Given the description of an element on the screen output the (x, y) to click on. 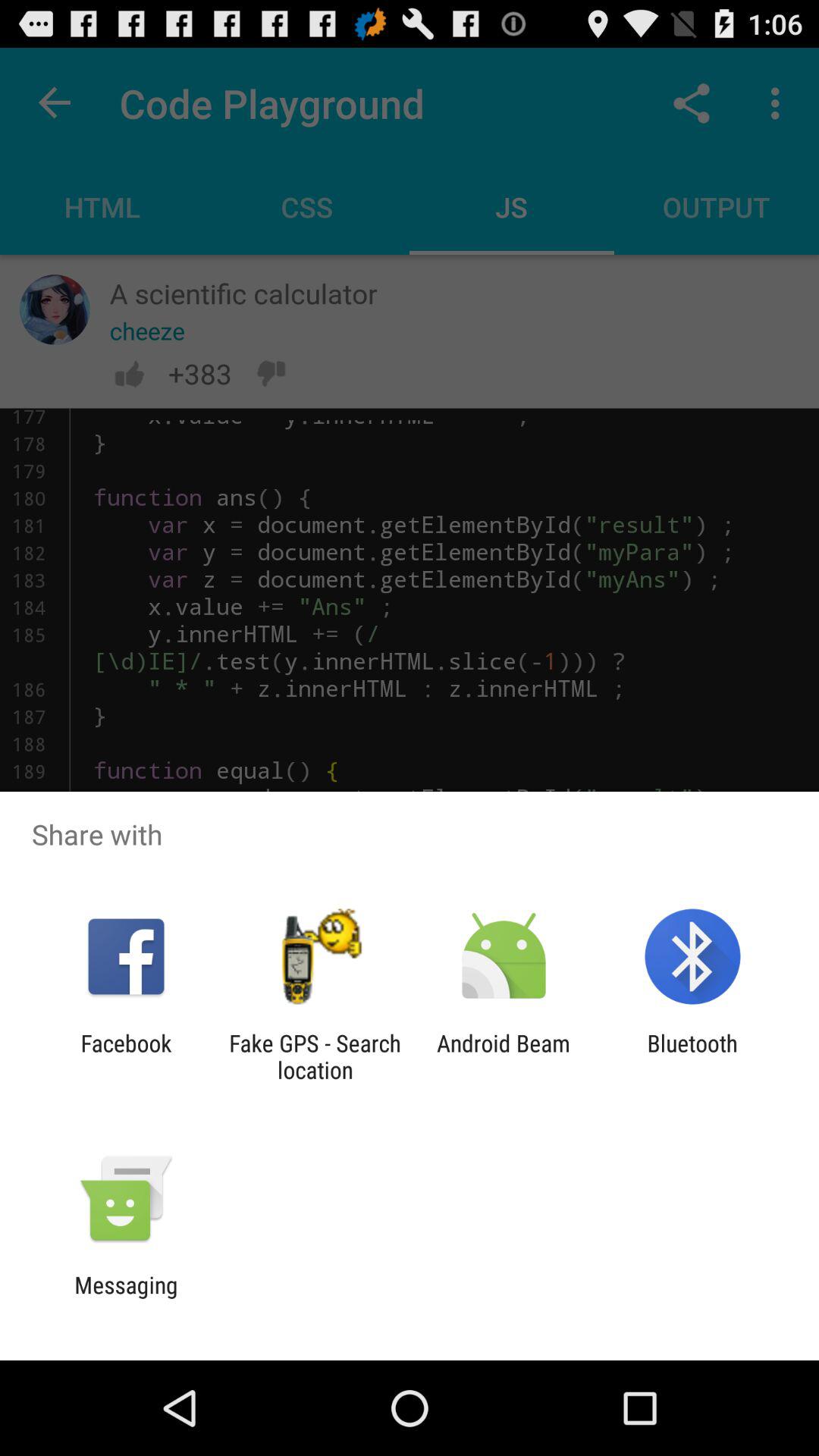
select the android beam item (503, 1056)
